Given the description of an element on the screen output the (x, y) to click on. 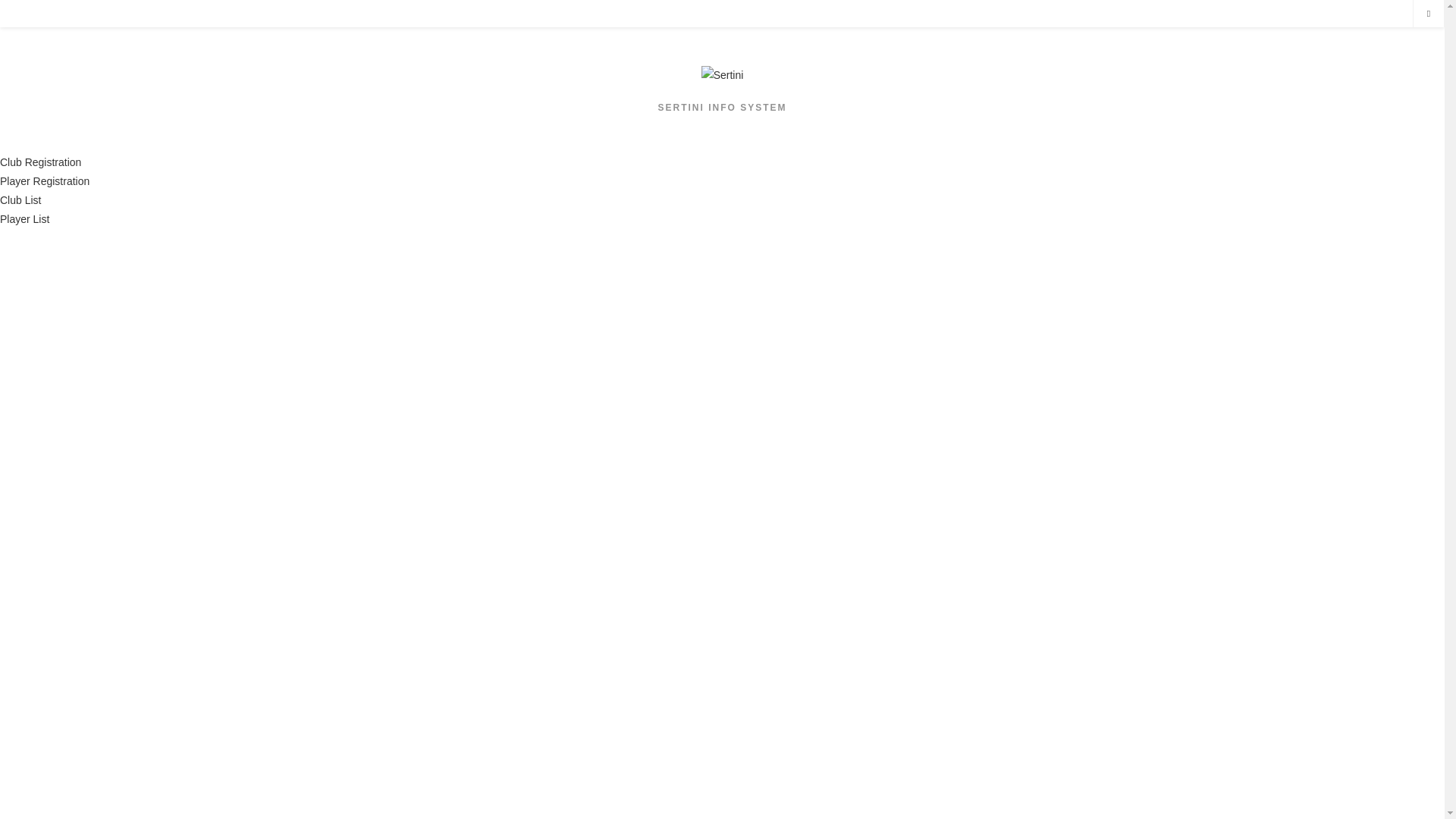
Club Registration Element type: text (40, 162)
Club List Element type: text (20, 200)
Player Registration Element type: text (44, 181)
Player List Element type: text (24, 219)
